Given the description of an element on the screen output the (x, y) to click on. 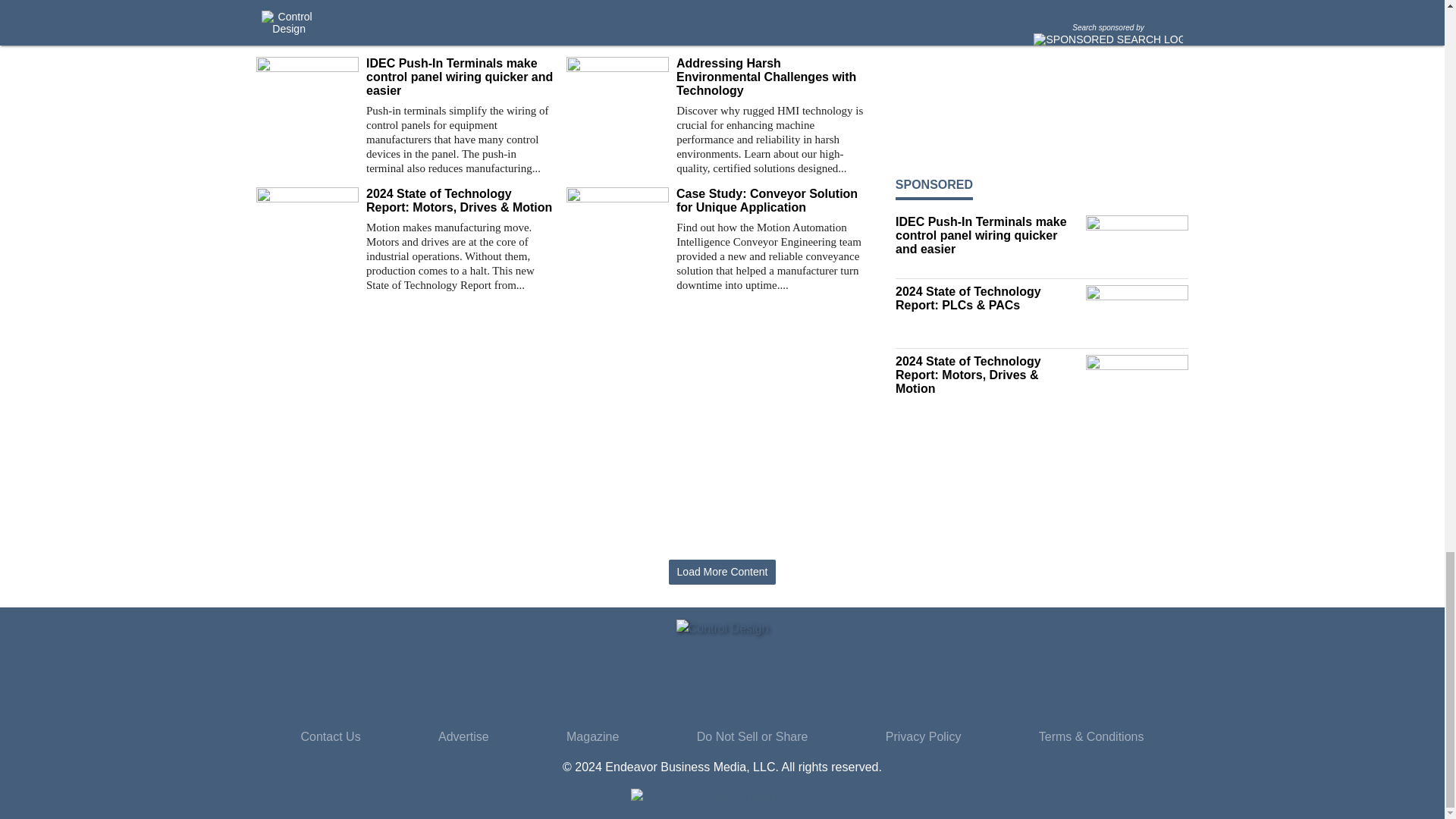
Addressing Harsh Environmental Challenges with Technology (770, 76)
Case Study: Conveyor Solution for Unique Application (770, 200)
